Given the description of an element on the screen output the (x, y) to click on. 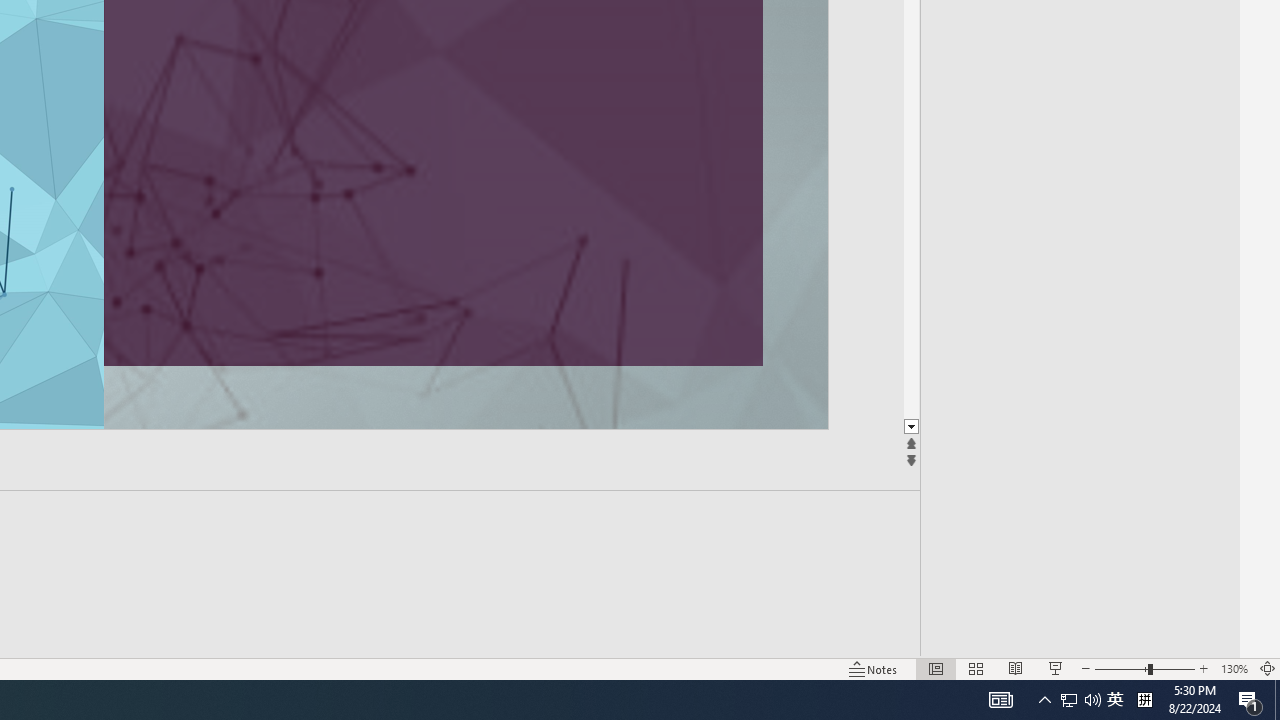
Zoom 130% (1234, 668)
